Given the description of an element on the screen output the (x, y) to click on. 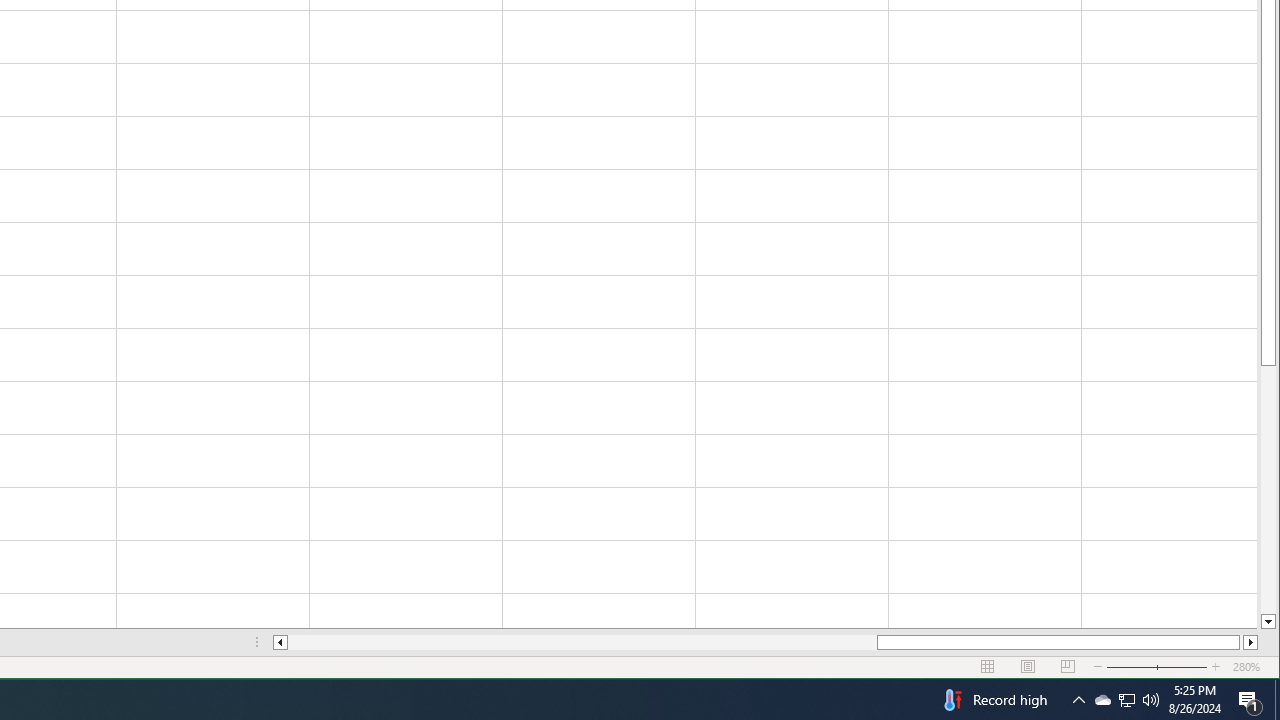
Action Center, 1 new notification (1250, 699)
Notification Chevron (1078, 699)
User Promoted Notification Area (1126, 699)
Record high (993, 699)
Q2790: 100% (1102, 699)
